Given the description of an element on the screen output the (x, y) to click on. 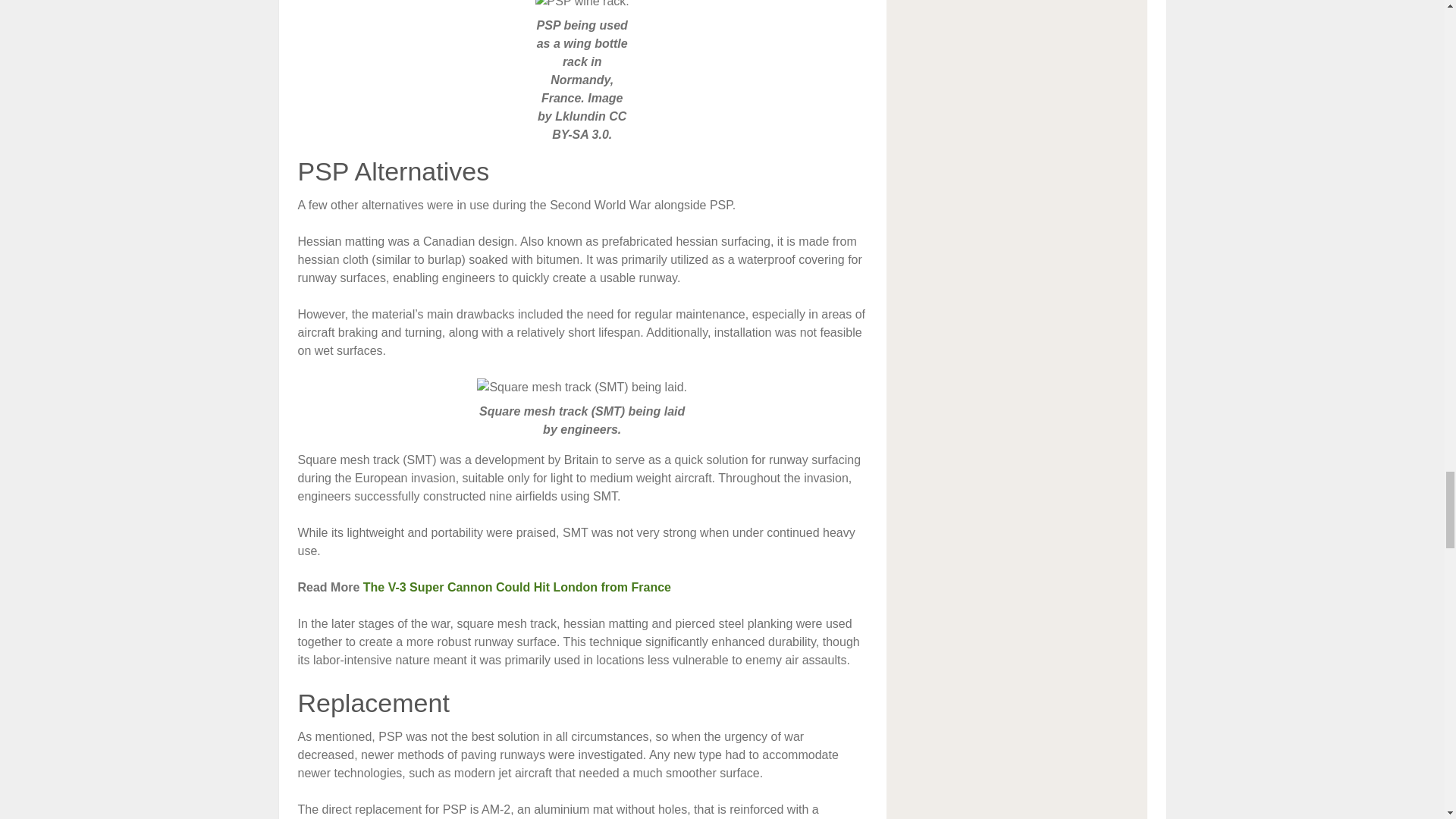
The V-3 Super Cannon Could Hit London from France (516, 586)
